Given the description of an element on the screen output the (x, y) to click on. 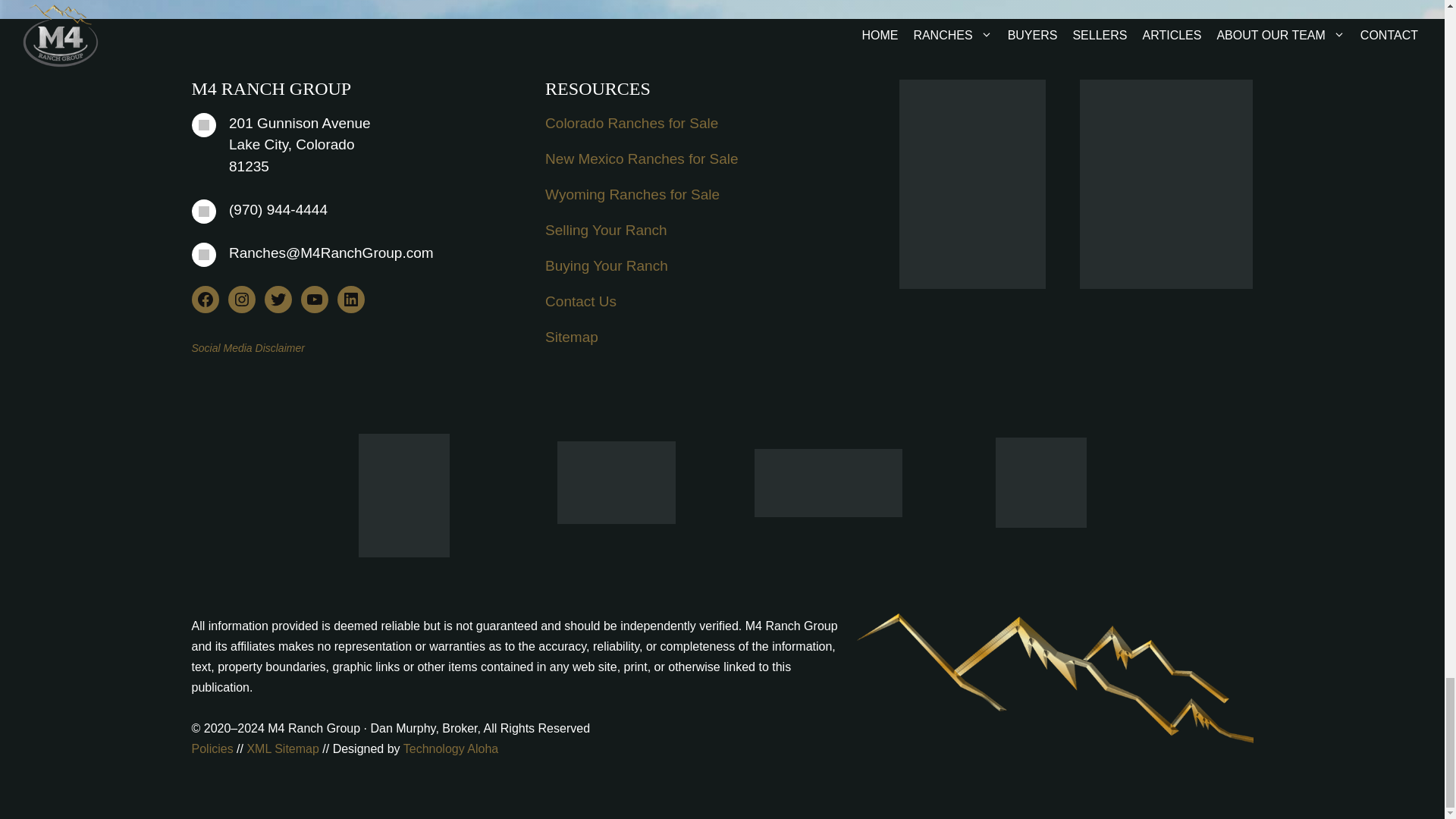
phone-solid (202, 211)
RLI-retailor-of-the-year (827, 482)
APEX 2023 Producers Club logo (615, 482)
envelope-solid (202, 254)
compass-regular (202, 125)
